Given the description of an element on the screen output the (x, y) to click on. 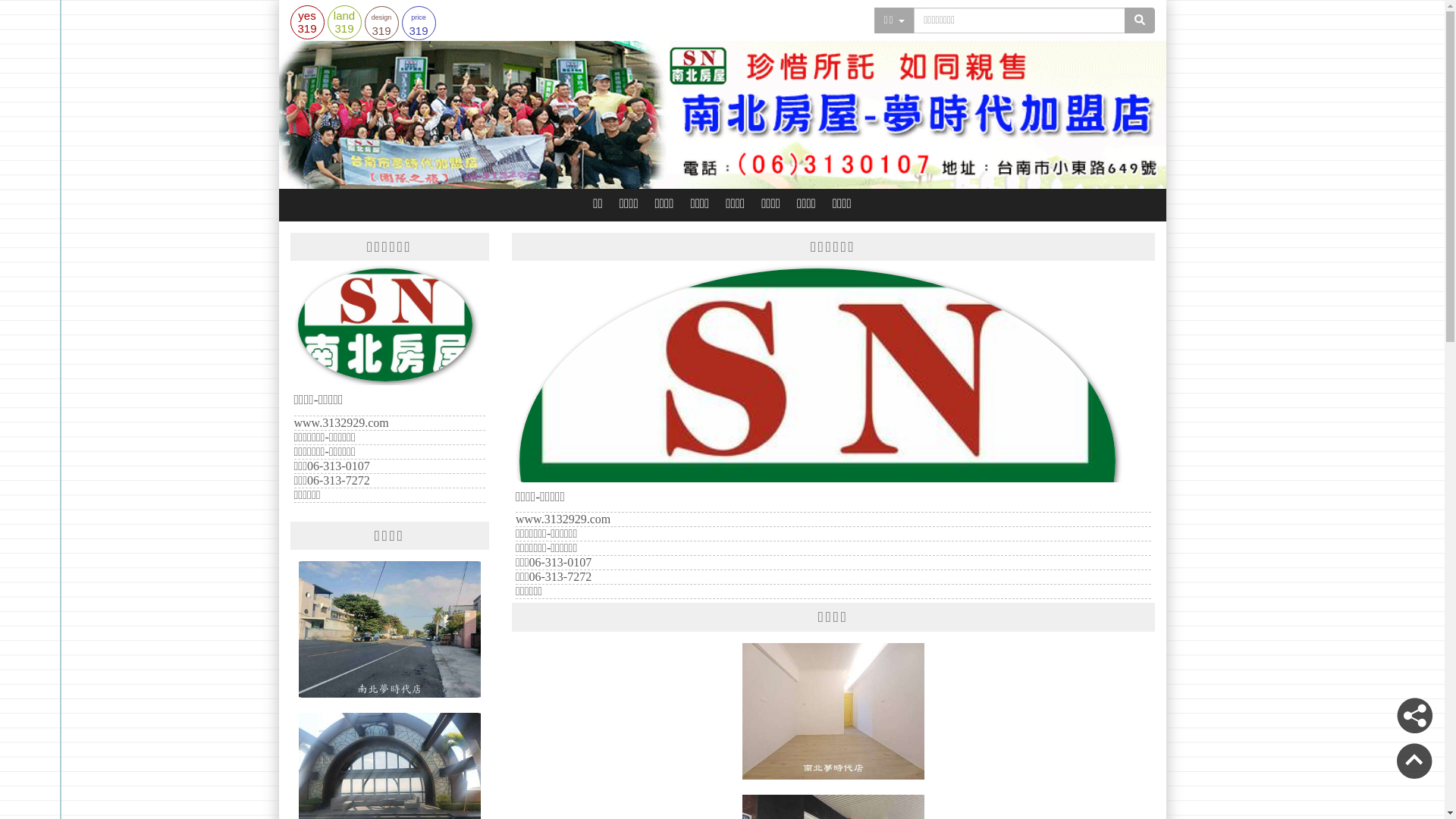
land
319 Element type: text (344, 21)
www.3132929.com Element type: text (562, 518)
design
319 Element type: text (381, 23)
price
319 Element type: text (418, 23)
yes
319 Element type: text (306, 21)
www.3132929.com Element type: text (341, 422)
